Given the description of an element on the screen output the (x, y) to click on. 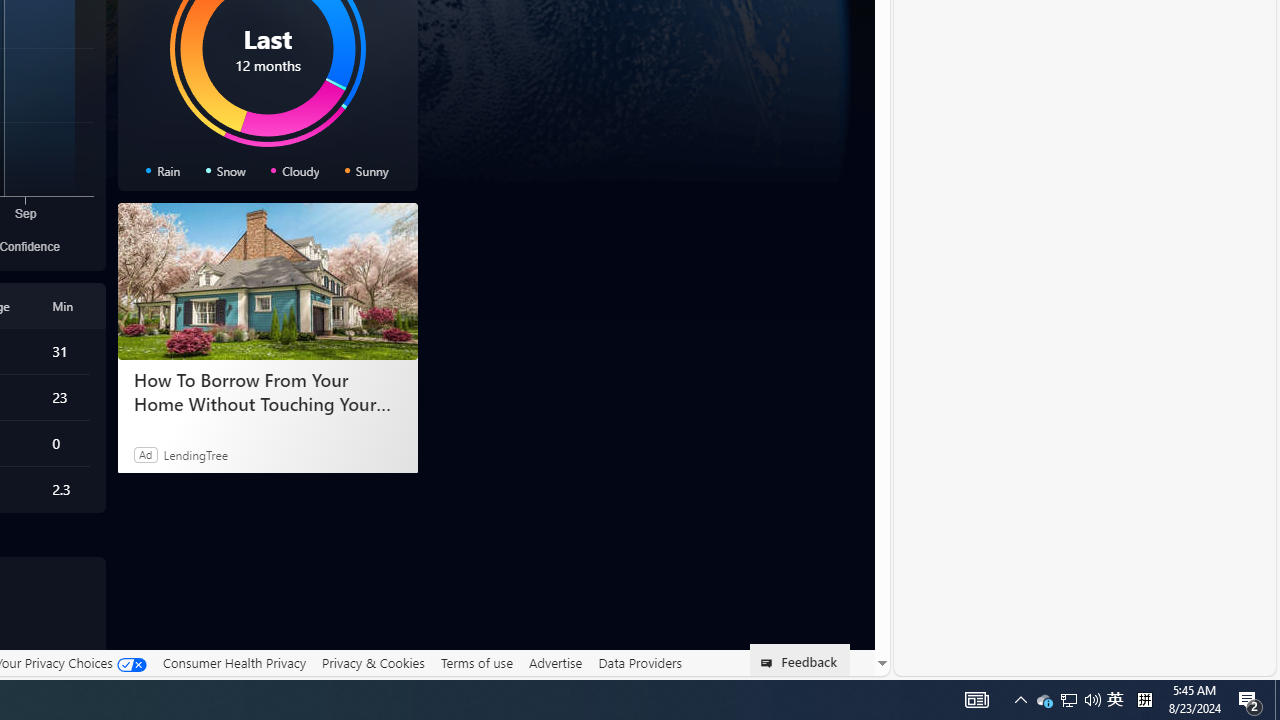
Data Providers (639, 662)
Data Providers (639, 663)
Class: feedback_link_icon-DS-EntryPoint1-1 (770, 663)
